Given the description of an element on the screen output the (x, y) to click on. 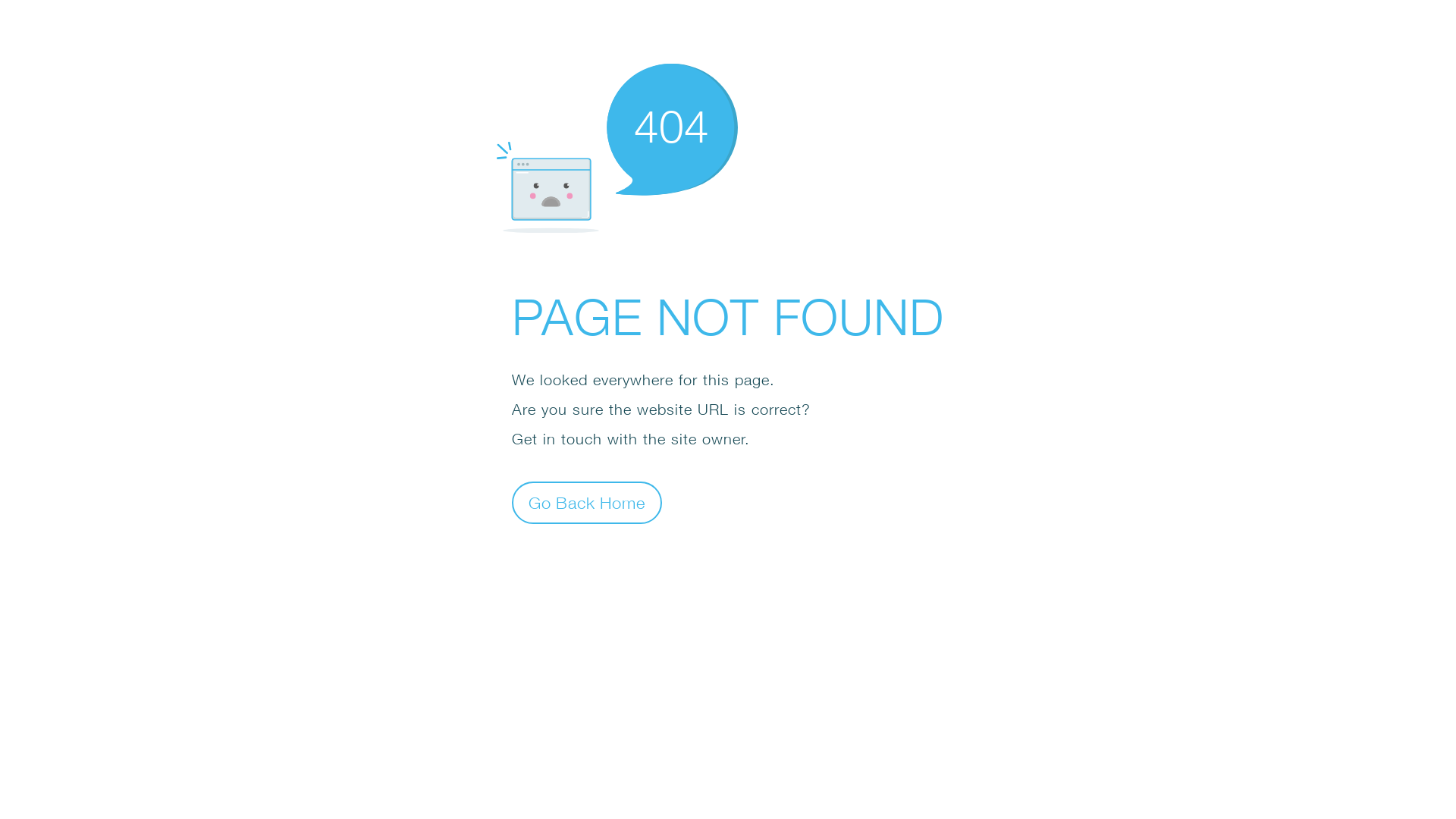
Go Back Home Element type: text (586, 502)
